Given the description of an element on the screen output the (x, y) to click on. 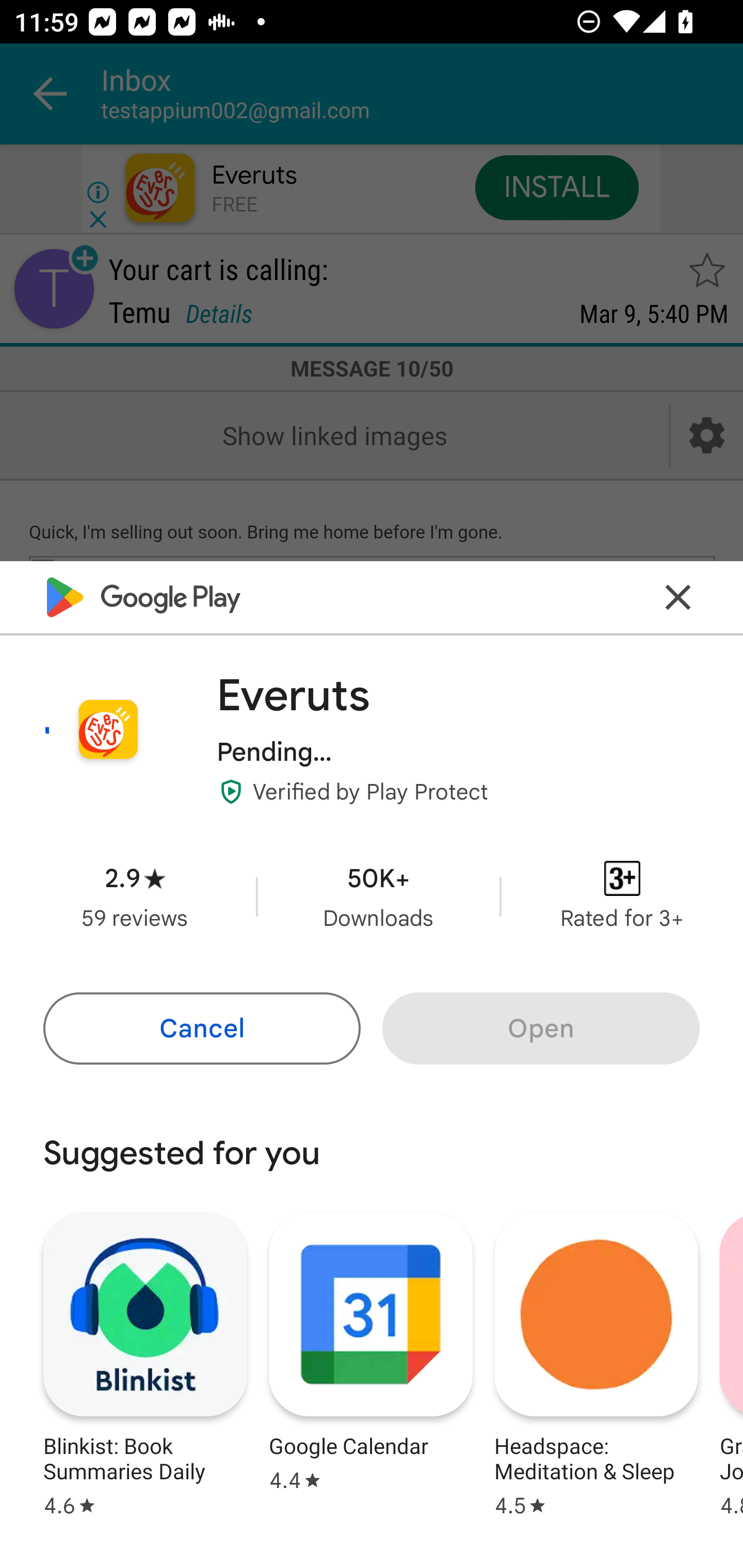
Close (677, 597)
Image of app or game icon for Everuts (108, 729)
Cancel (201, 1028)
App: Google Calendar
Star rating: 4.4


 (370, 1362)
